Given the description of an element on the screen output the (x, y) to click on. 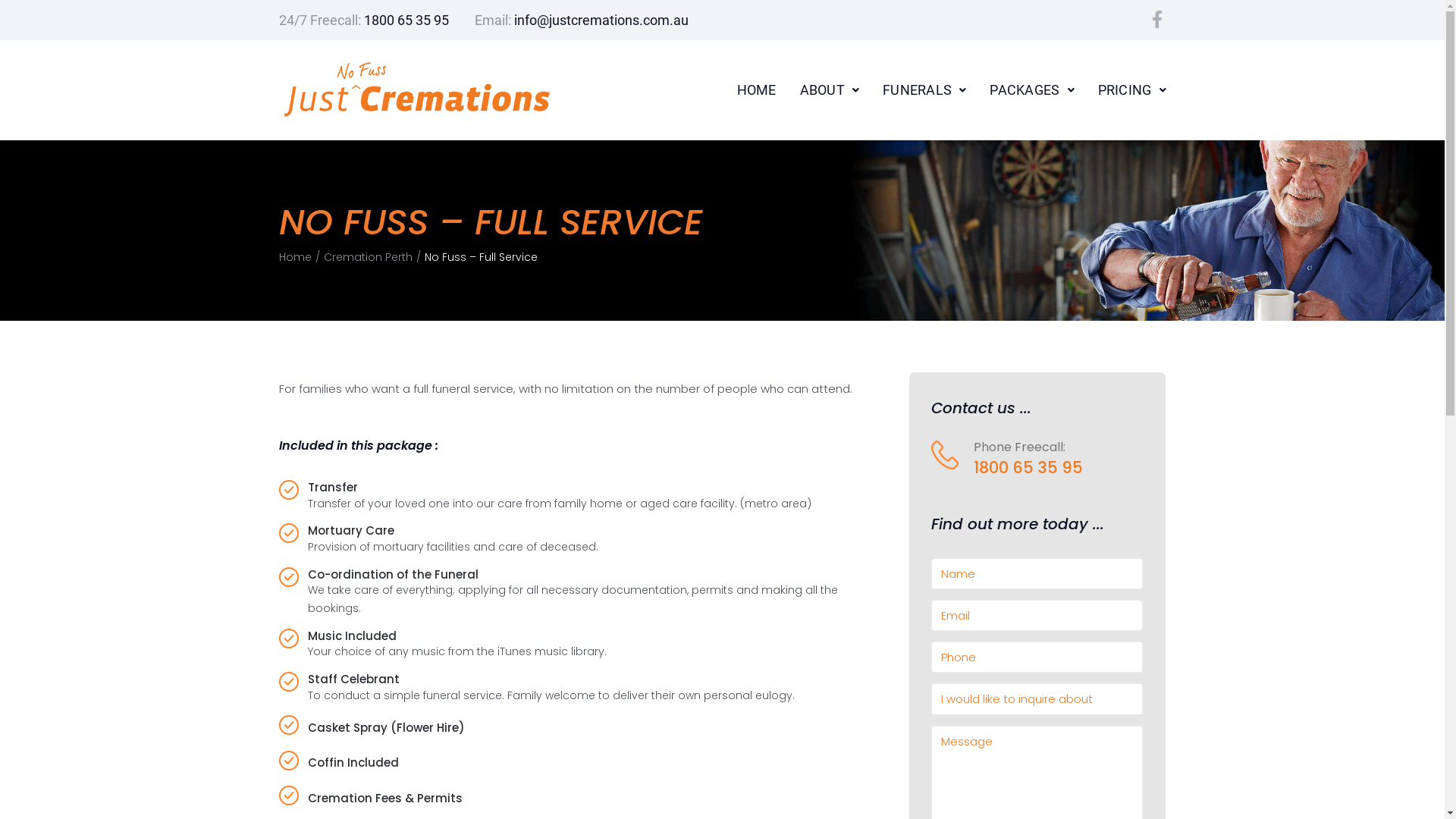
info@justcremations.com.au Element type: text (601, 20)
1800 65 35 95 Element type: text (406, 20)
HOME Element type: text (756, 89)
PACKAGES Element type: text (1031, 89)
ABOUT Element type: text (829, 89)
FUNERALS Element type: text (924, 89)
1800 65 35 95 Element type: text (1027, 467)
Cremation Perth Element type: text (367, 257)
Home Element type: text (295, 257)
PRICING Element type: text (1132, 89)
